Given the description of an element on the screen output the (x, y) to click on. 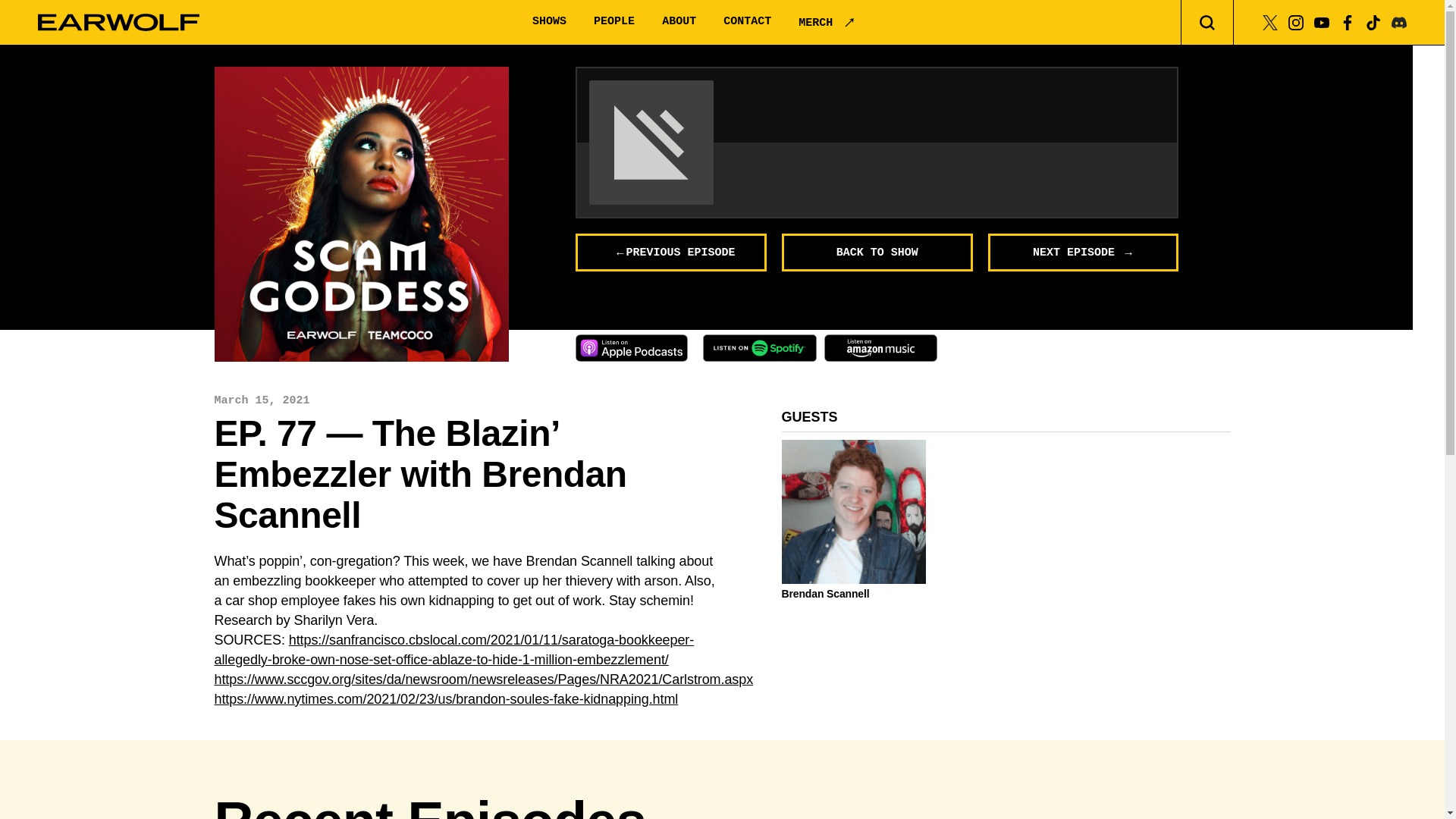
SHOWS (549, 21)
PEOPLE (614, 21)
ABOUT (678, 21)
Earwolf (118, 22)
YouTube (1321, 21)
Facebook (1347, 21)
Instagram (1295, 21)
Tiktok (1372, 21)
CONTACT (747, 21)
BACK TO SHOW (876, 252)
Brendan Scannell (853, 593)
Toggle Search (1206, 22)
